Given the description of an element on the screen output the (x, y) to click on. 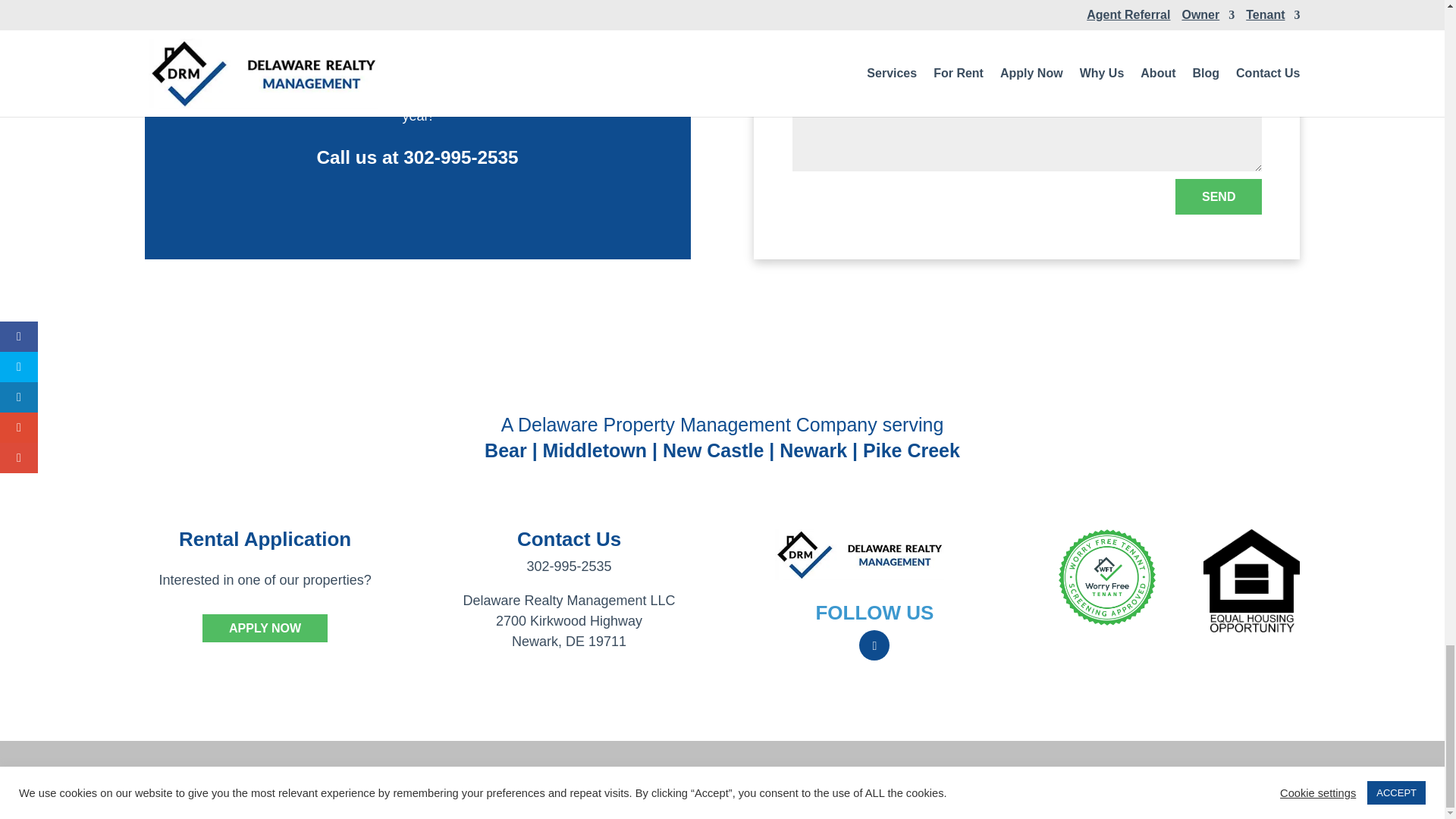
equal-housing-opportunity-logo-1200w (1252, 580)
1 (858, 554)
